Given the description of an element on the screen output the (x, y) to click on. 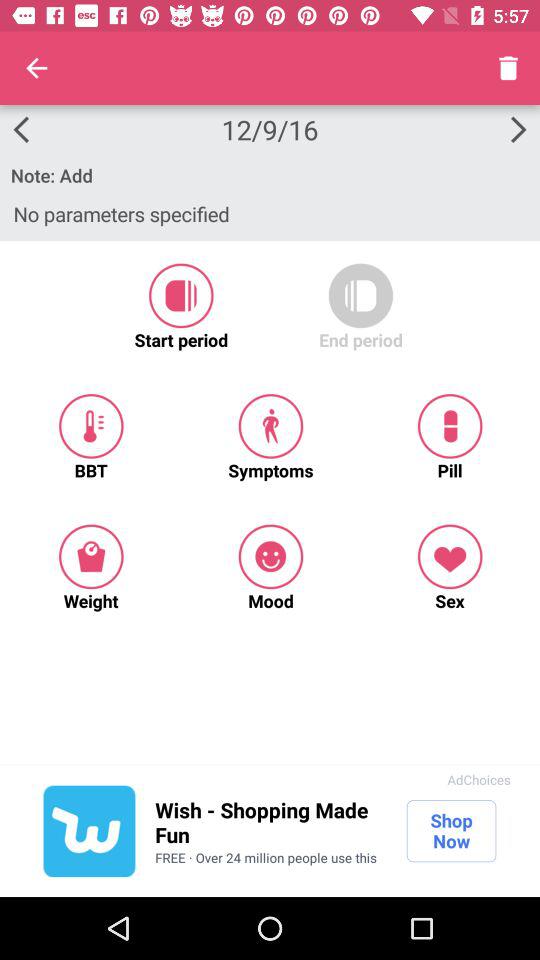
open item below adchoices app (451, 831)
